Given the description of an element on the screen output the (x, y) to click on. 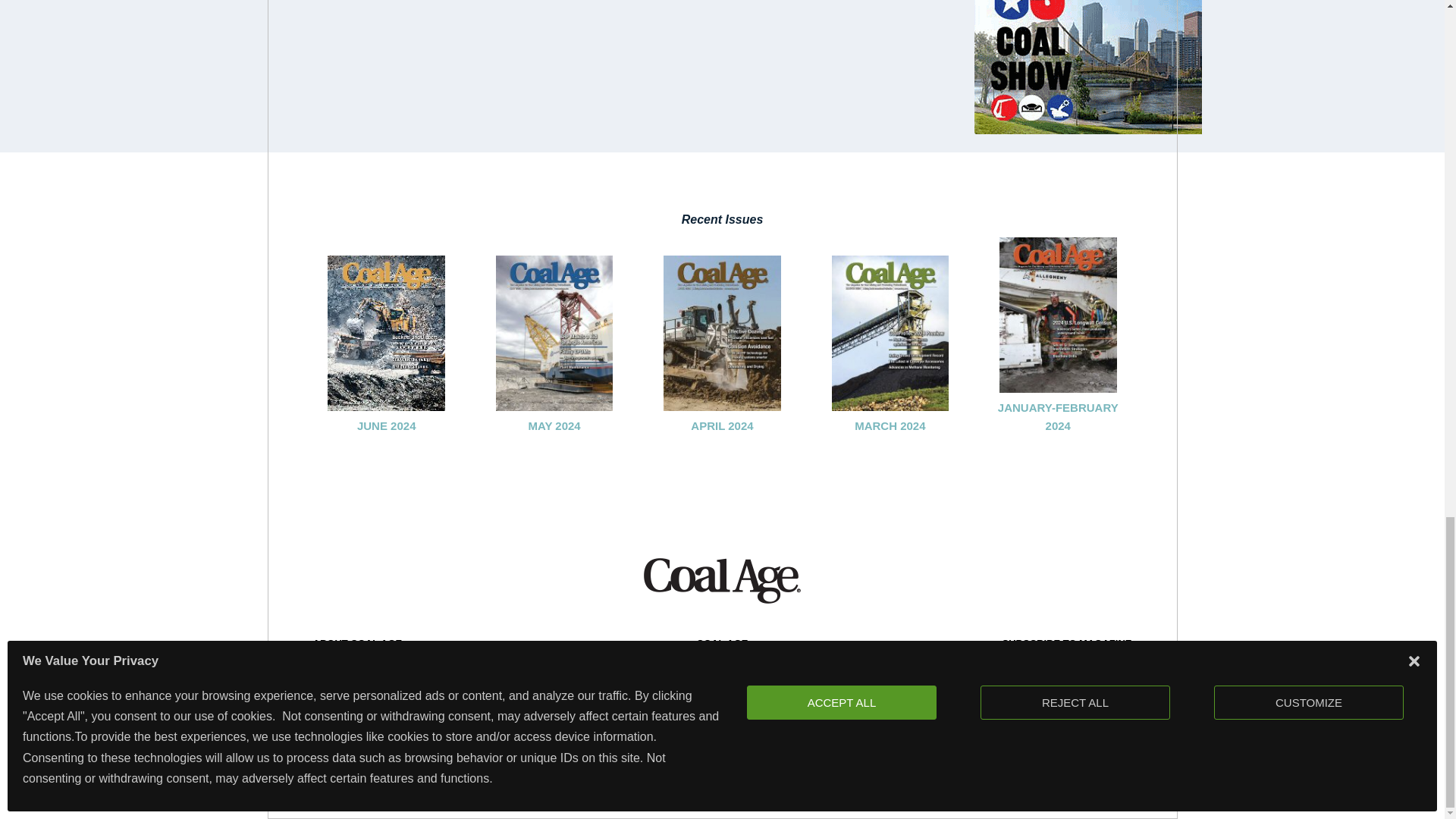
Coal Age logo (722, 580)
